Given the description of an element on the screen output the (x, y) to click on. 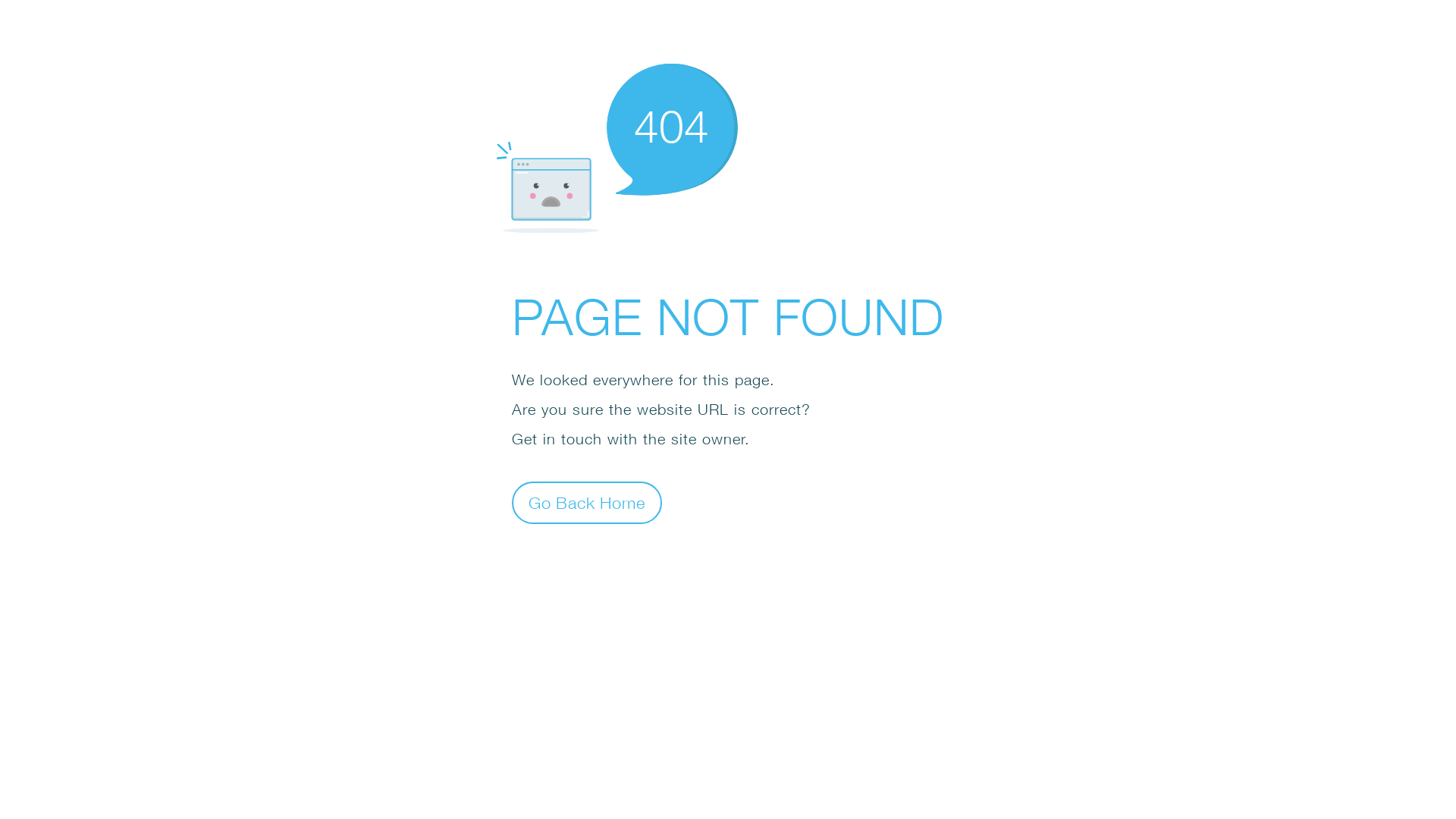
Go Back Home Element type: text (586, 502)
